Given the description of an element on the screen output the (x, y) to click on. 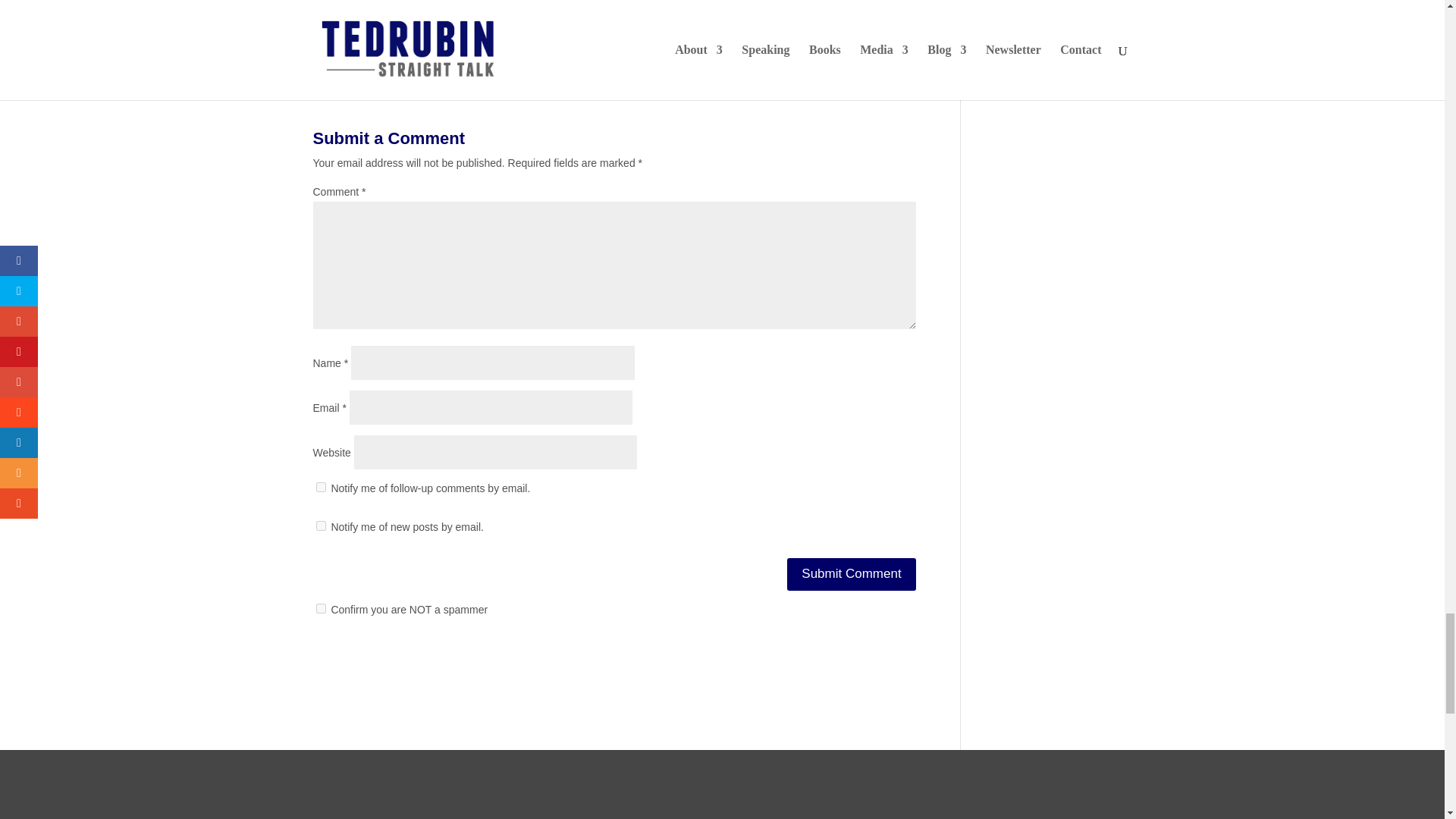
Submit Comment (851, 573)
subscribe (319, 525)
on (319, 608)
Submit Comment (851, 573)
subscribe (319, 487)
